Given the description of an element on the screen output the (x, y) to click on. 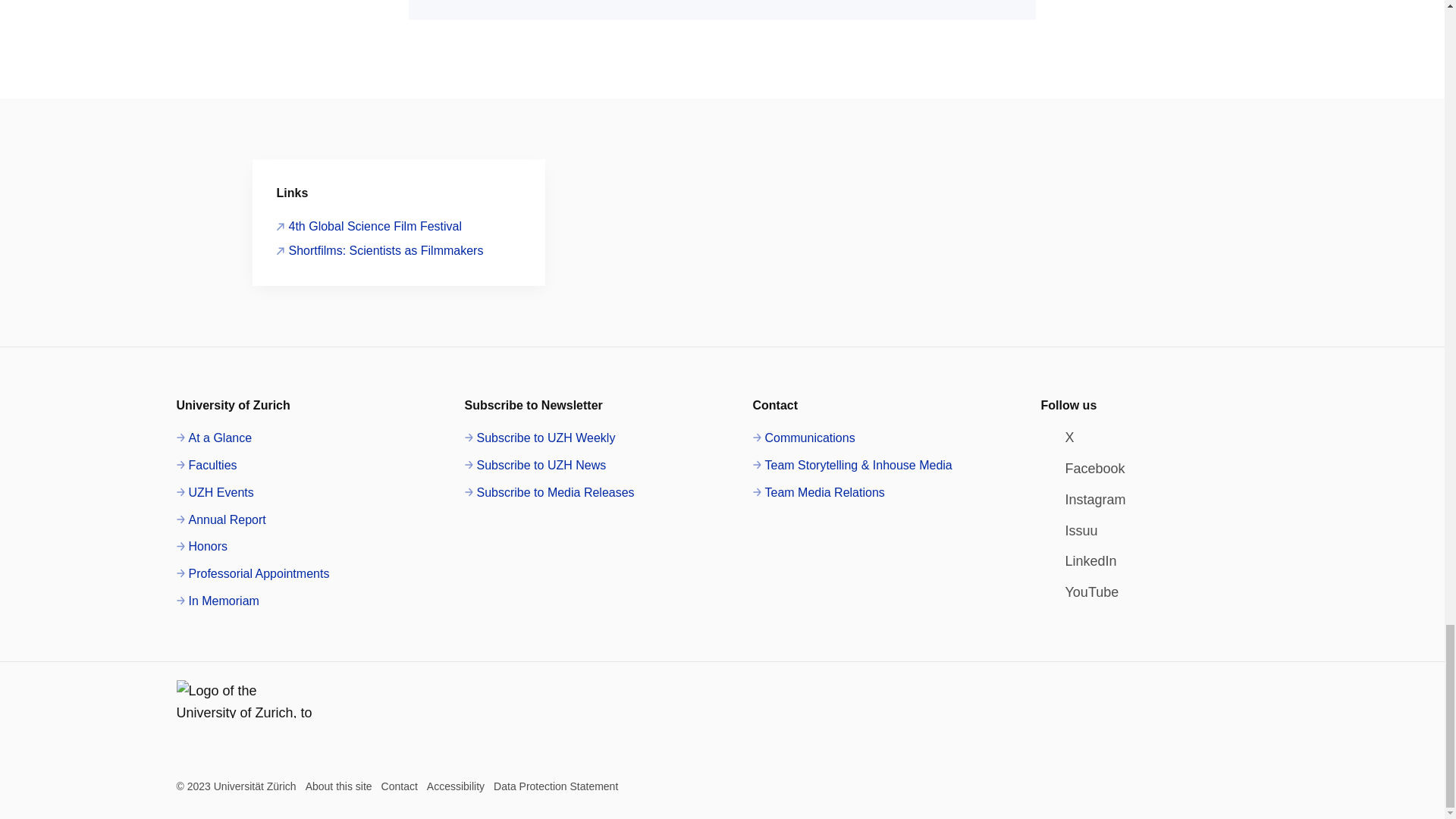
At a Glance (213, 437)
Annual Report (220, 519)
Faculties (205, 465)
4th Global Science Film Festival (368, 226)
Team Media Relations (817, 492)
Shortfilms: Scientists as Filmmakers (379, 250)
Subscribe to UZH News (534, 465)
Professorial Appointments  (252, 573)
Subscribe to Media Releases (548, 492)
Faculties (205, 465)
